Given the description of an element on the screen output the (x, y) to click on. 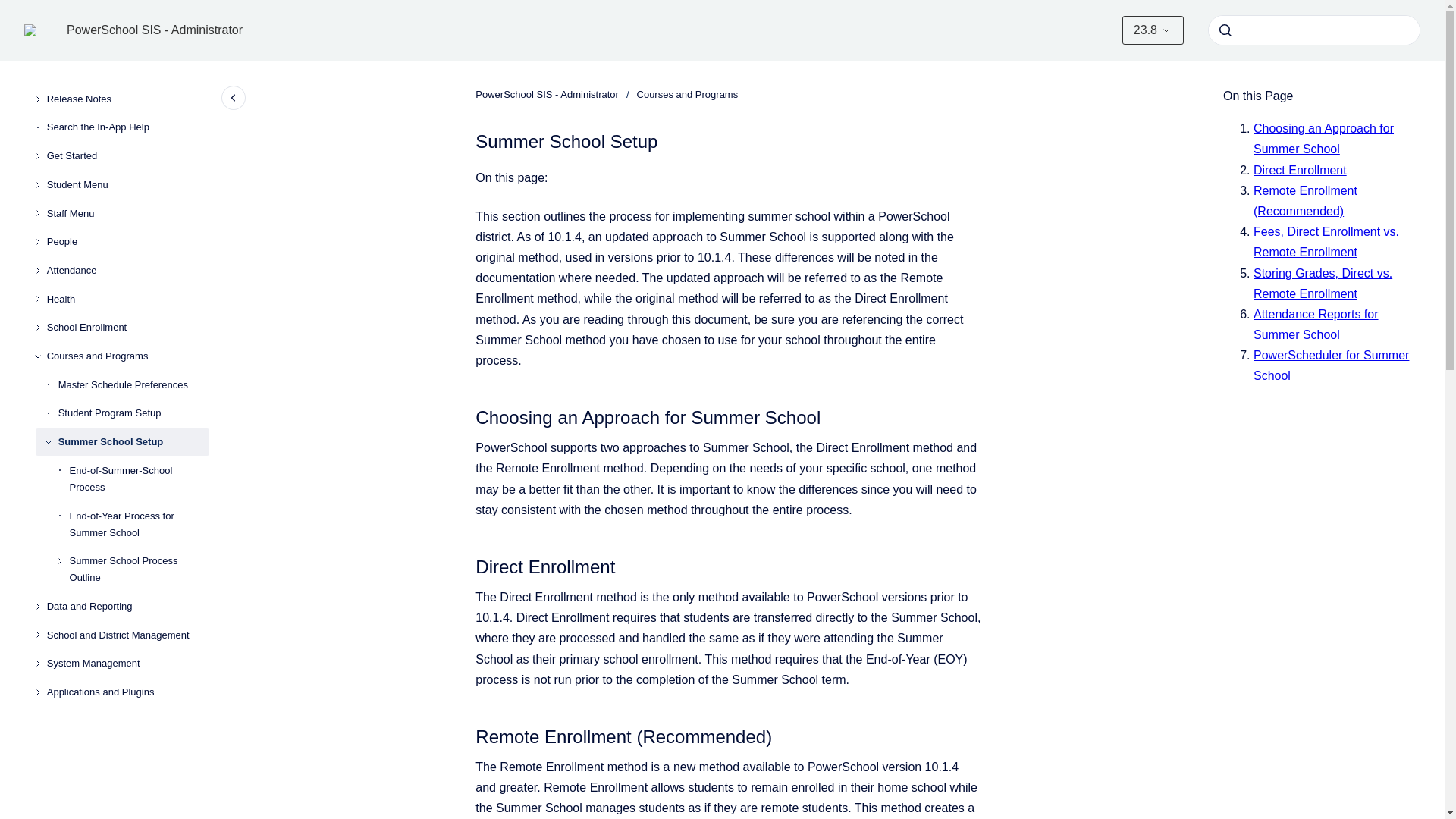
System Management (127, 664)
23.8 (1152, 30)
Data and Reporting (127, 605)
PowerSchool SIS - Administrator (154, 29)
Attendance (127, 270)
Summer School Process Outline (139, 569)
Student Menu (127, 185)
Courses and Programs (127, 356)
Master Schedule Preferences (133, 384)
Summer School Setup (133, 441)
School and District Management (127, 635)
School Enrollment (127, 327)
Student Program Setup (133, 413)
Search the In-App Help (127, 127)
End-of-Year Process for Summer School (139, 524)
